Given the description of an element on the screen output the (x, y) to click on. 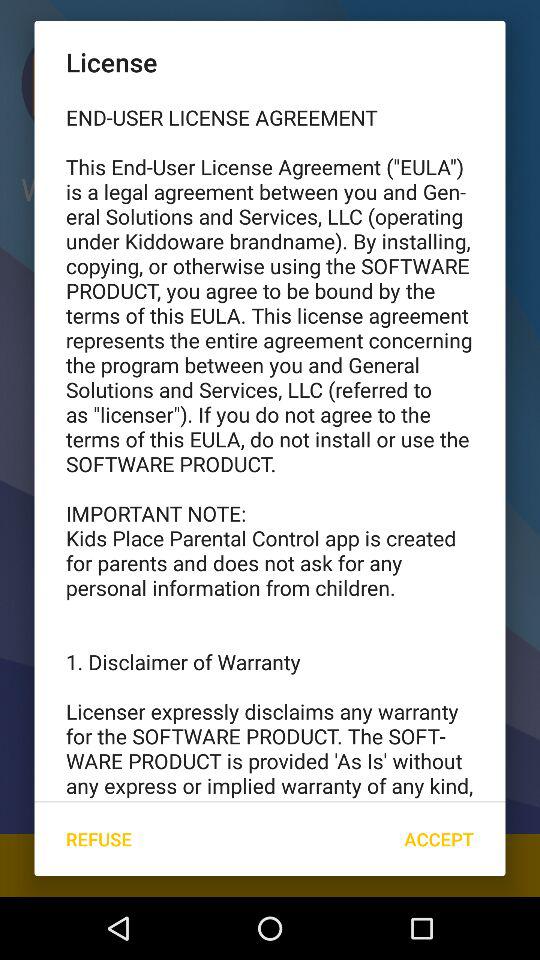
choose the item next to refuse (438, 838)
